Given the description of an element on the screen output the (x, y) to click on. 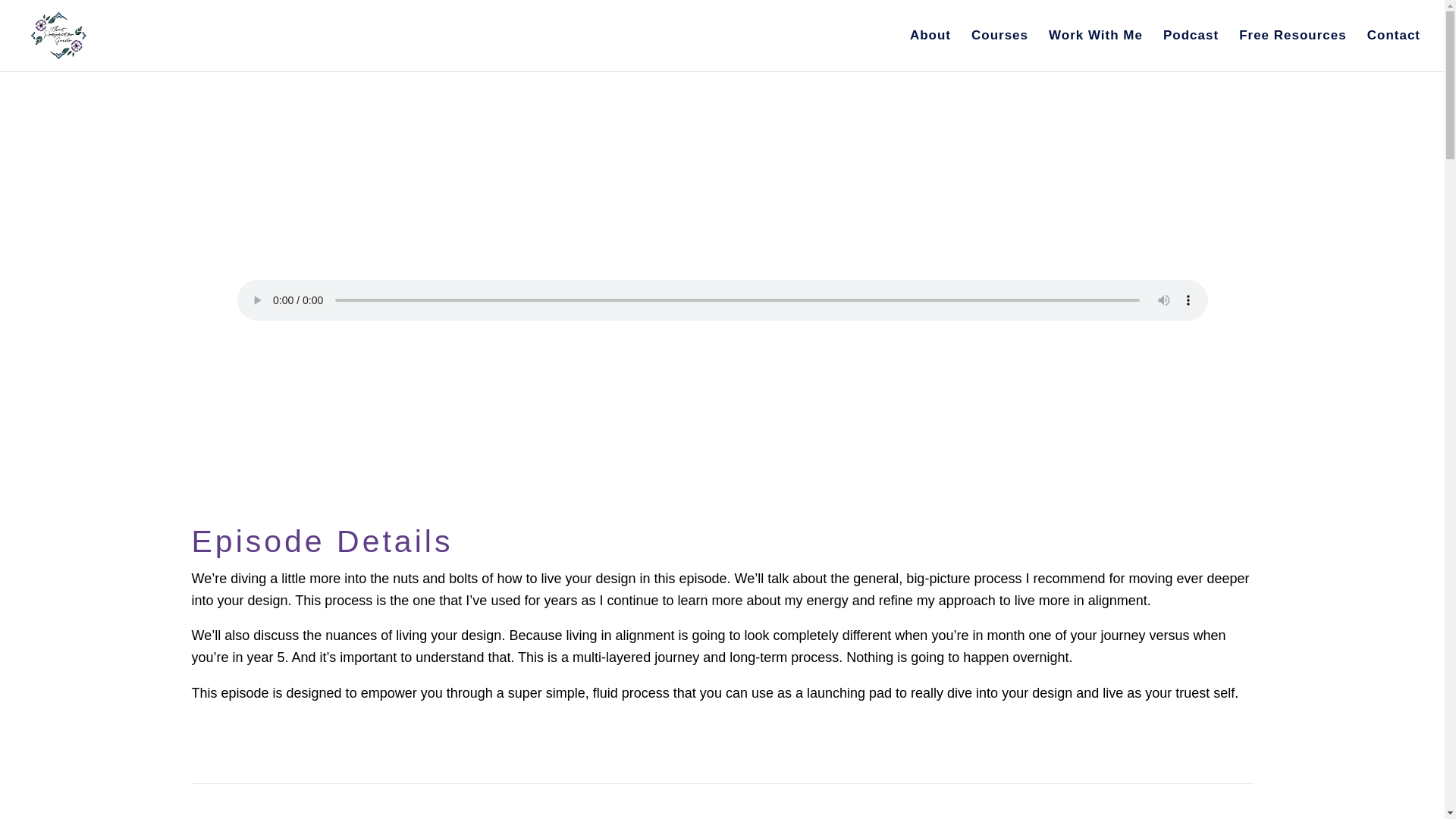
Posts by Ardelia Lee (591, 201)
Podcast (1190, 50)
Contact (1394, 50)
Human Design (771, 201)
About (930, 50)
Ardelia Lee (591, 201)
Projector Life (864, 201)
Free Resources (1292, 50)
Courses (999, 50)
Work With Me (1095, 50)
